Given the description of an element on the screen output the (x, y) to click on. 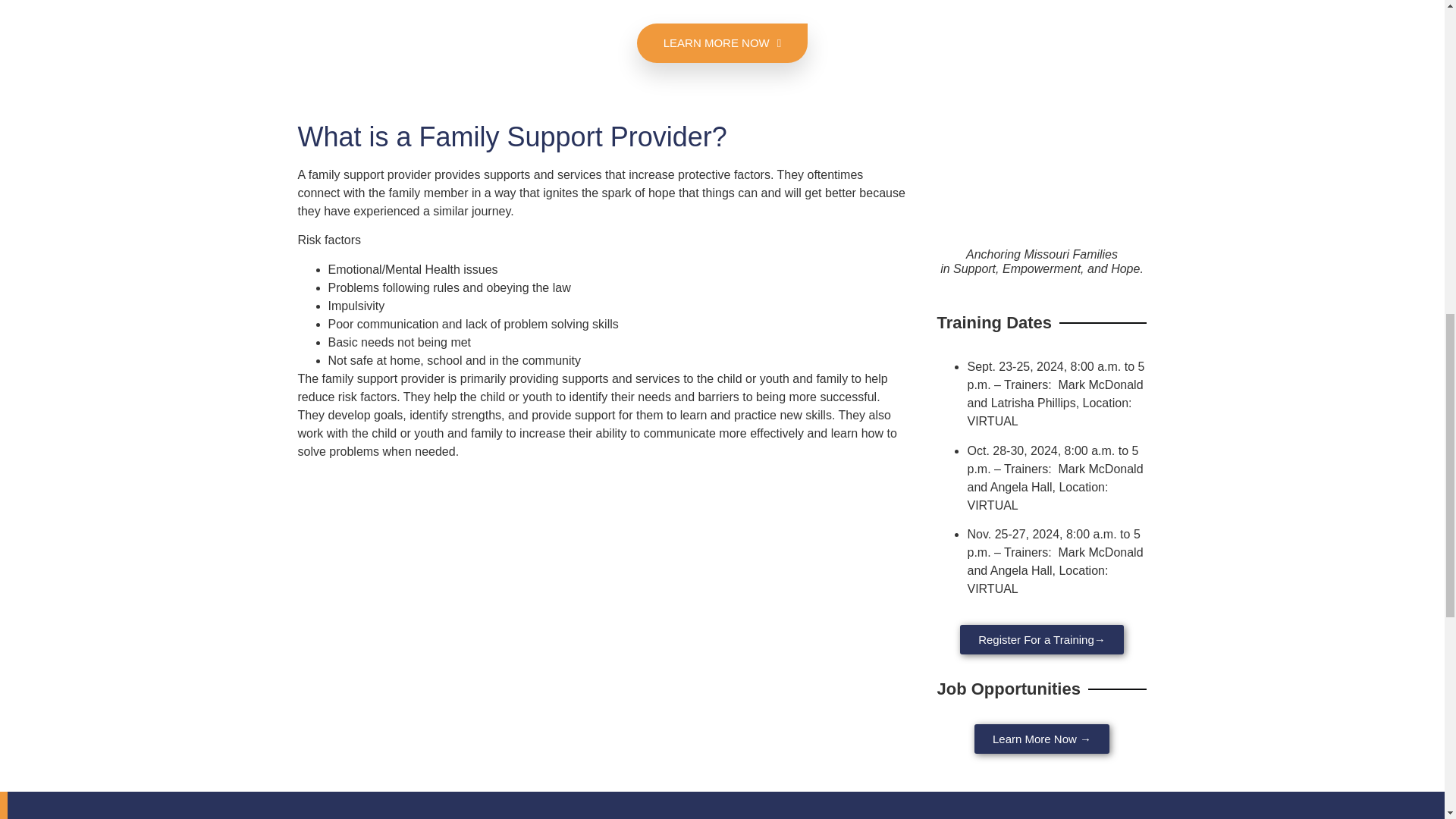
LEARN MORE NOW (722, 43)
